Given the description of an element on the screen output the (x, y) to click on. 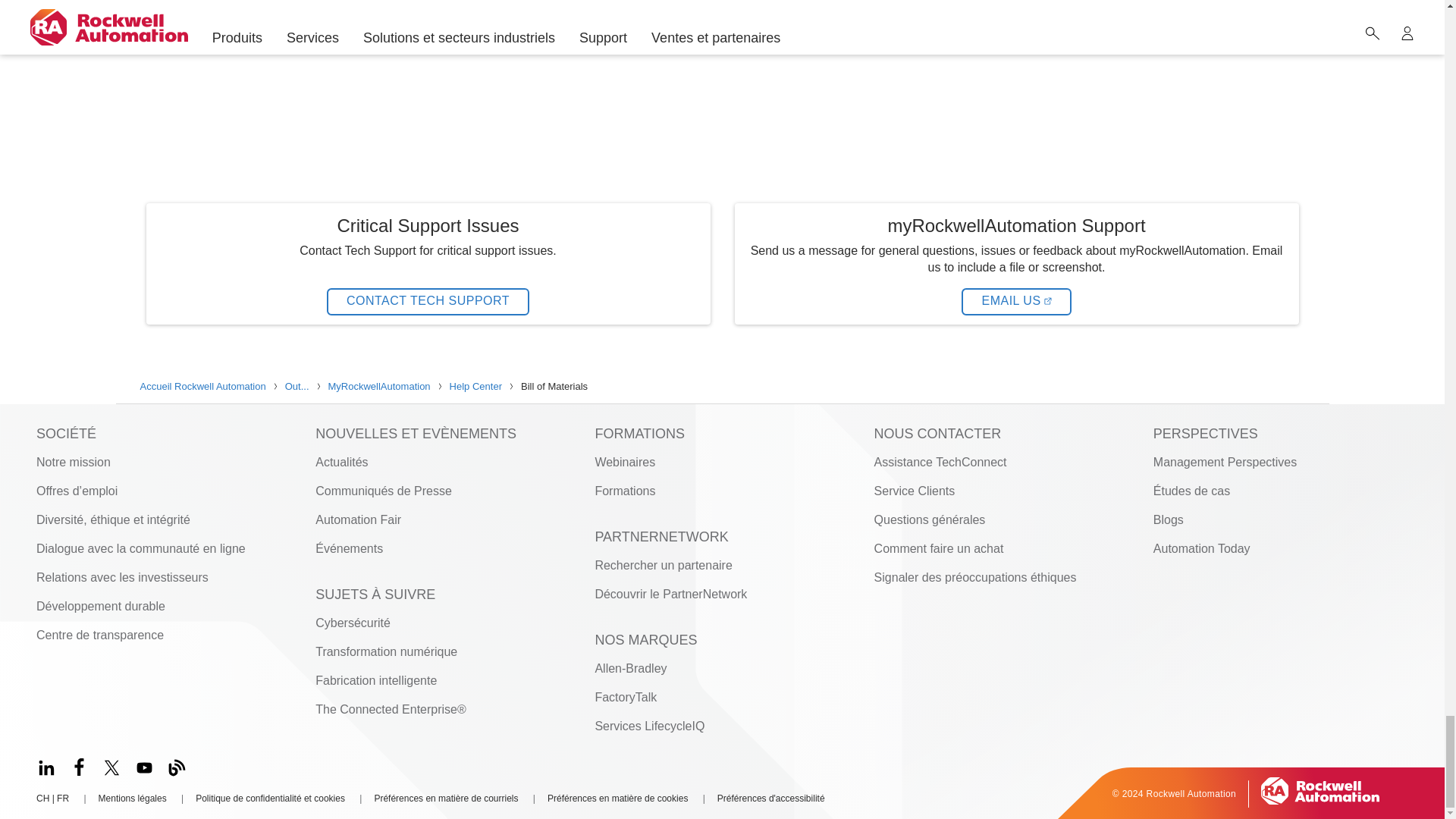
Accueil Rockwell Automation (1319, 799)
